Given the description of an element on the screen output the (x, y) to click on. 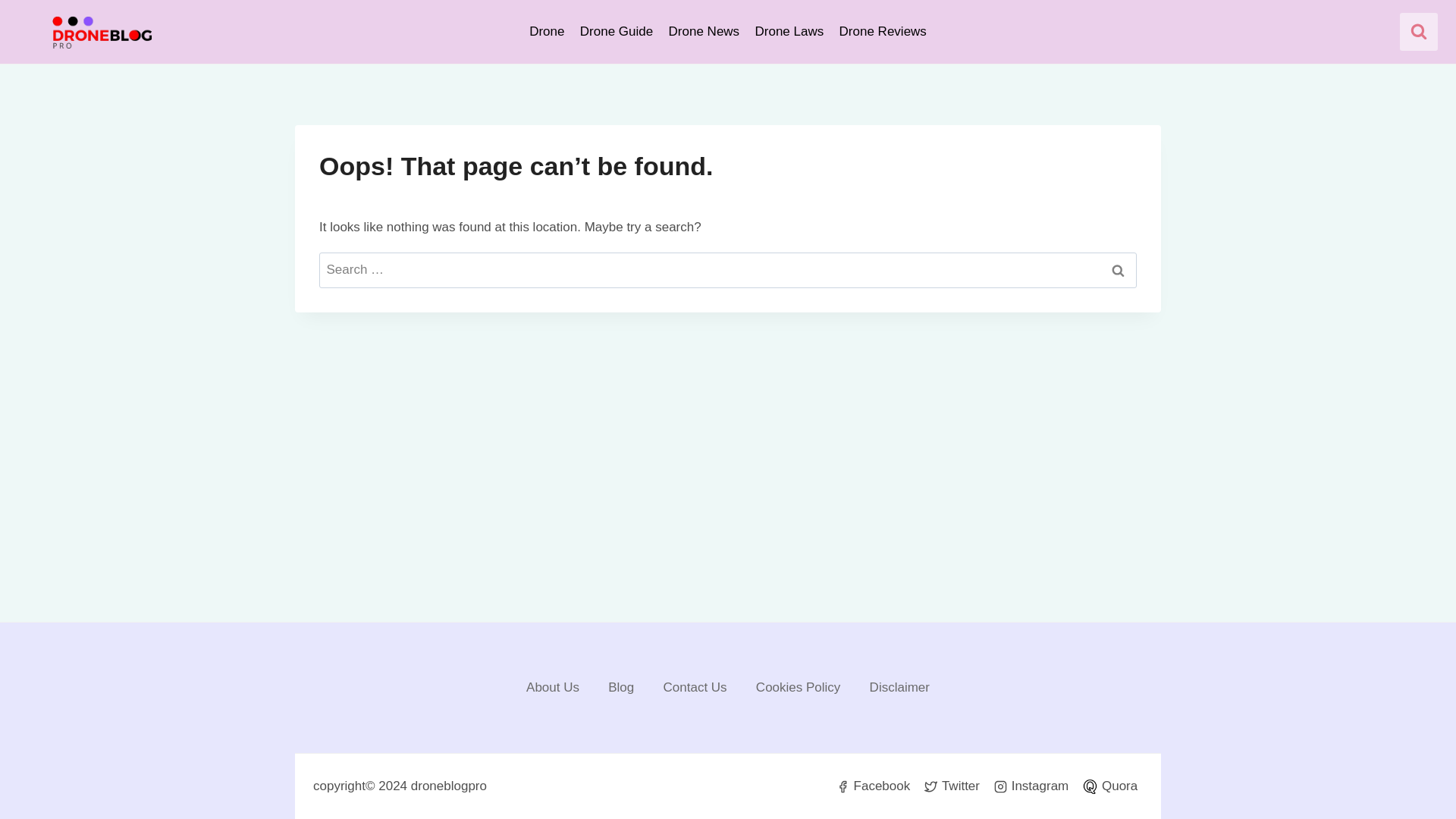
Cookies Policy (798, 687)
Facebook (873, 786)
Search (1118, 270)
Drone Guide (616, 31)
Disclaimer (898, 687)
Twitter (951, 786)
Search (1118, 270)
About Us (553, 687)
Drone Laws (788, 31)
Instagram (1031, 786)
Quora (1109, 786)
Search (1118, 270)
Drone News (703, 31)
Contact Us (694, 687)
Blog (620, 687)
